Given the description of an element on the screen output the (x, y) to click on. 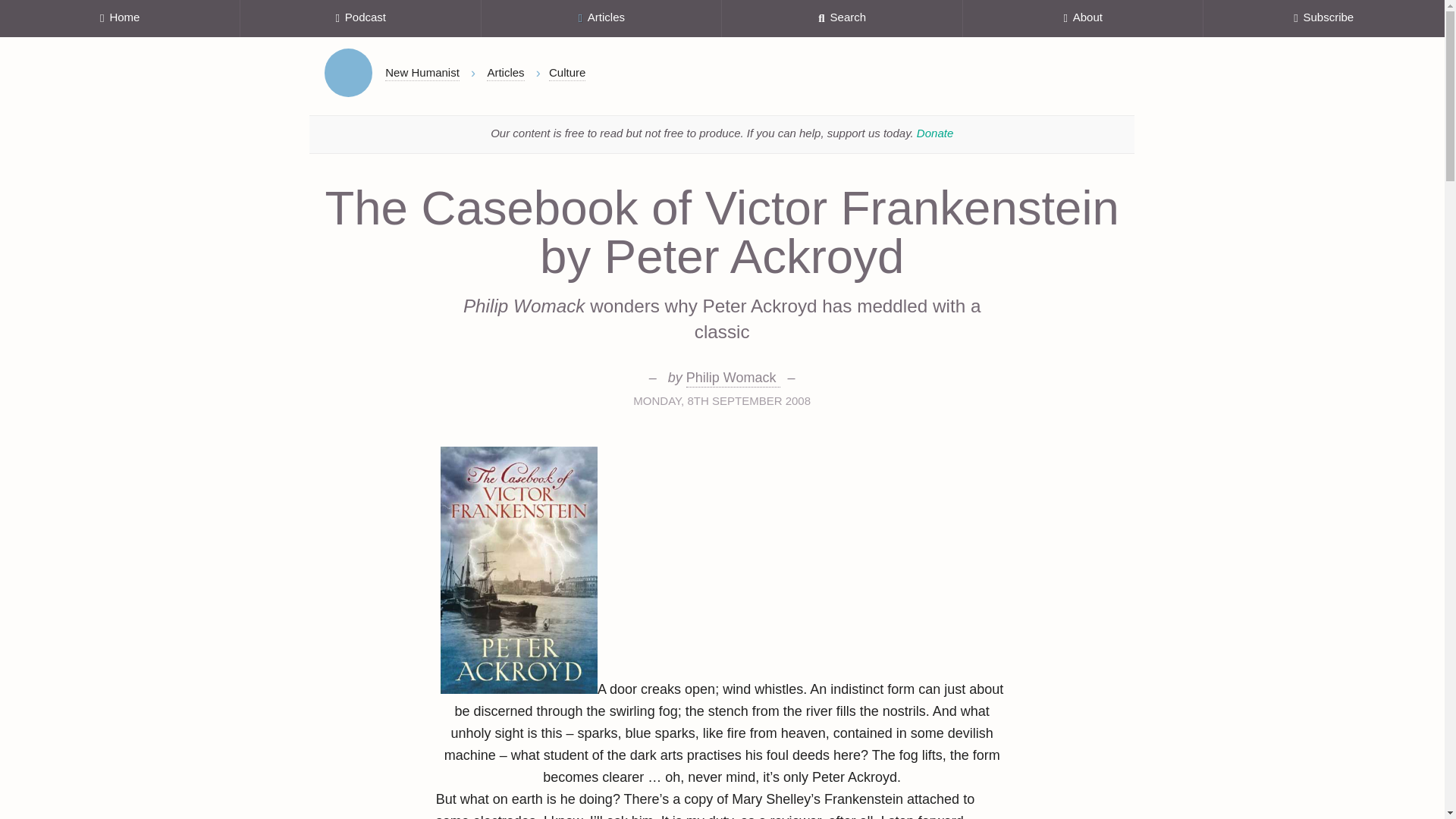
Philip Womack (732, 378)
Articles (505, 73)
Home (348, 72)
Podcast (360, 18)
New Humanist (422, 73)
Culture (566, 73)
Subscribe (1324, 18)
Articles (601, 18)
Home (120, 18)
